Given the description of an element on the screen output the (x, y) to click on. 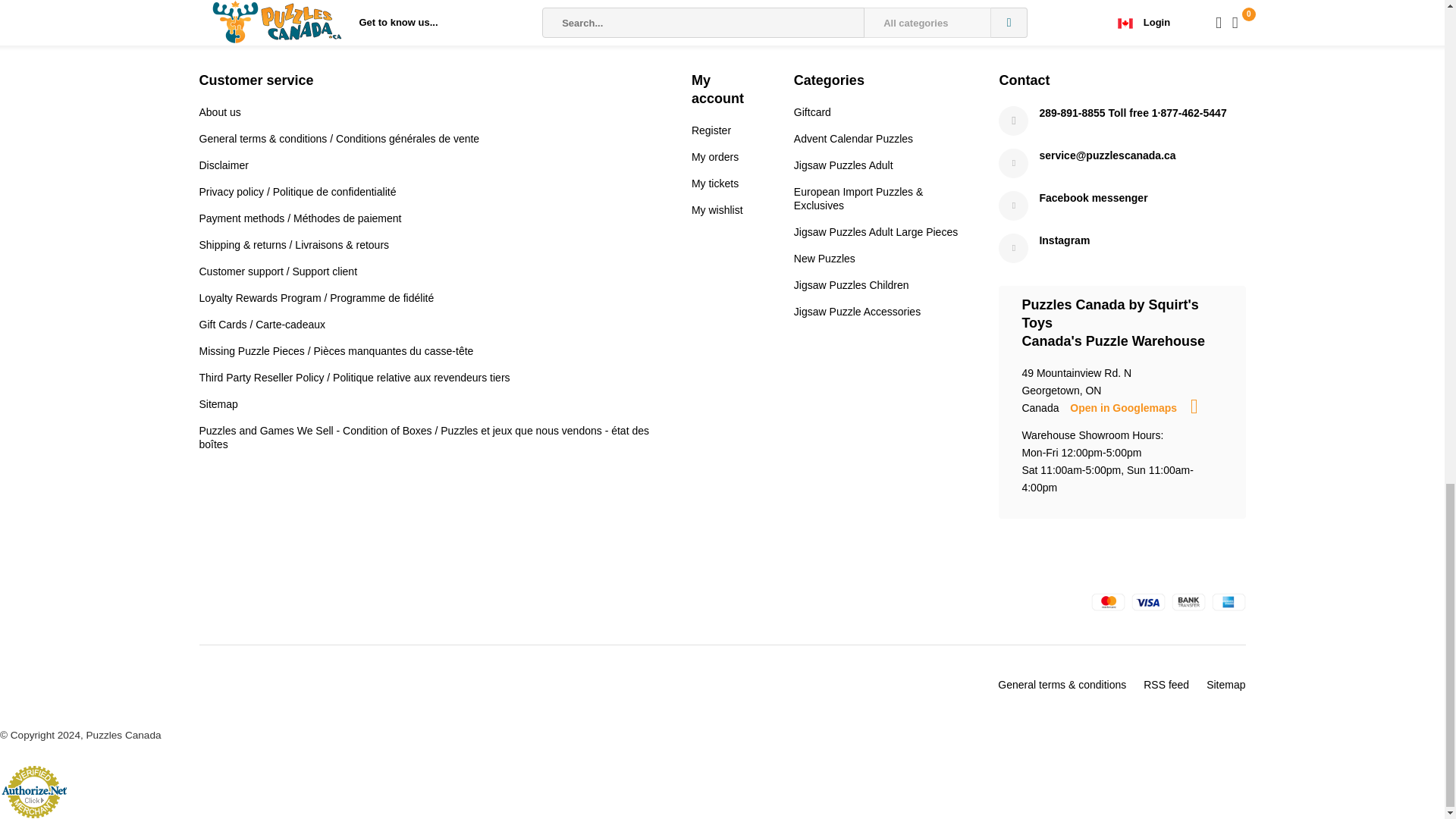
About us (219, 111)
My orders (714, 156)
Register (710, 130)
My wishlist (716, 209)
Disclaimer (222, 164)
Sitemap (217, 404)
My tickets (714, 183)
